Given the description of an element on the screen output the (x, y) to click on. 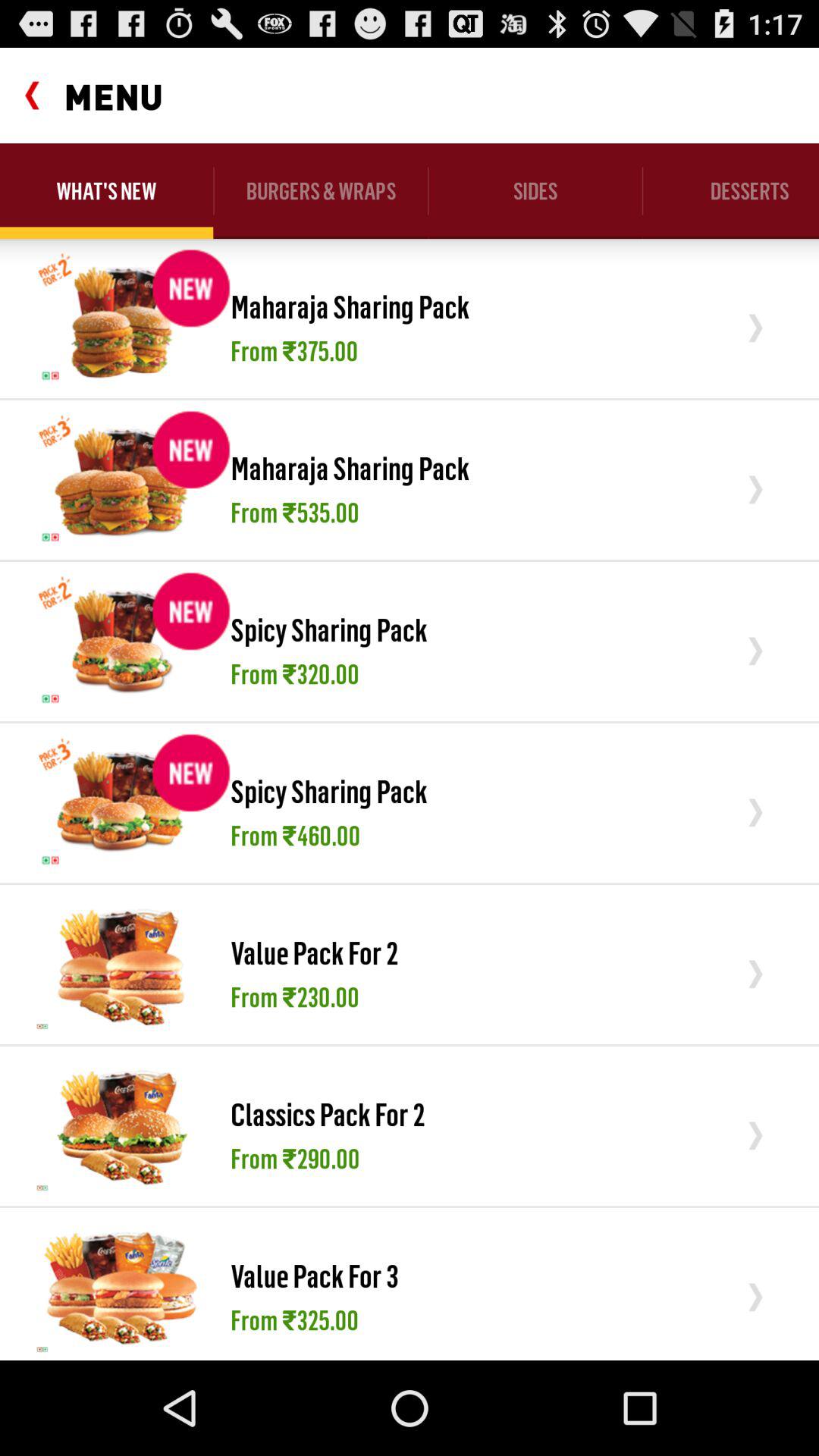
tap icon below what's new icon (121, 317)
